Given the description of an element on the screen output the (x, y) to click on. 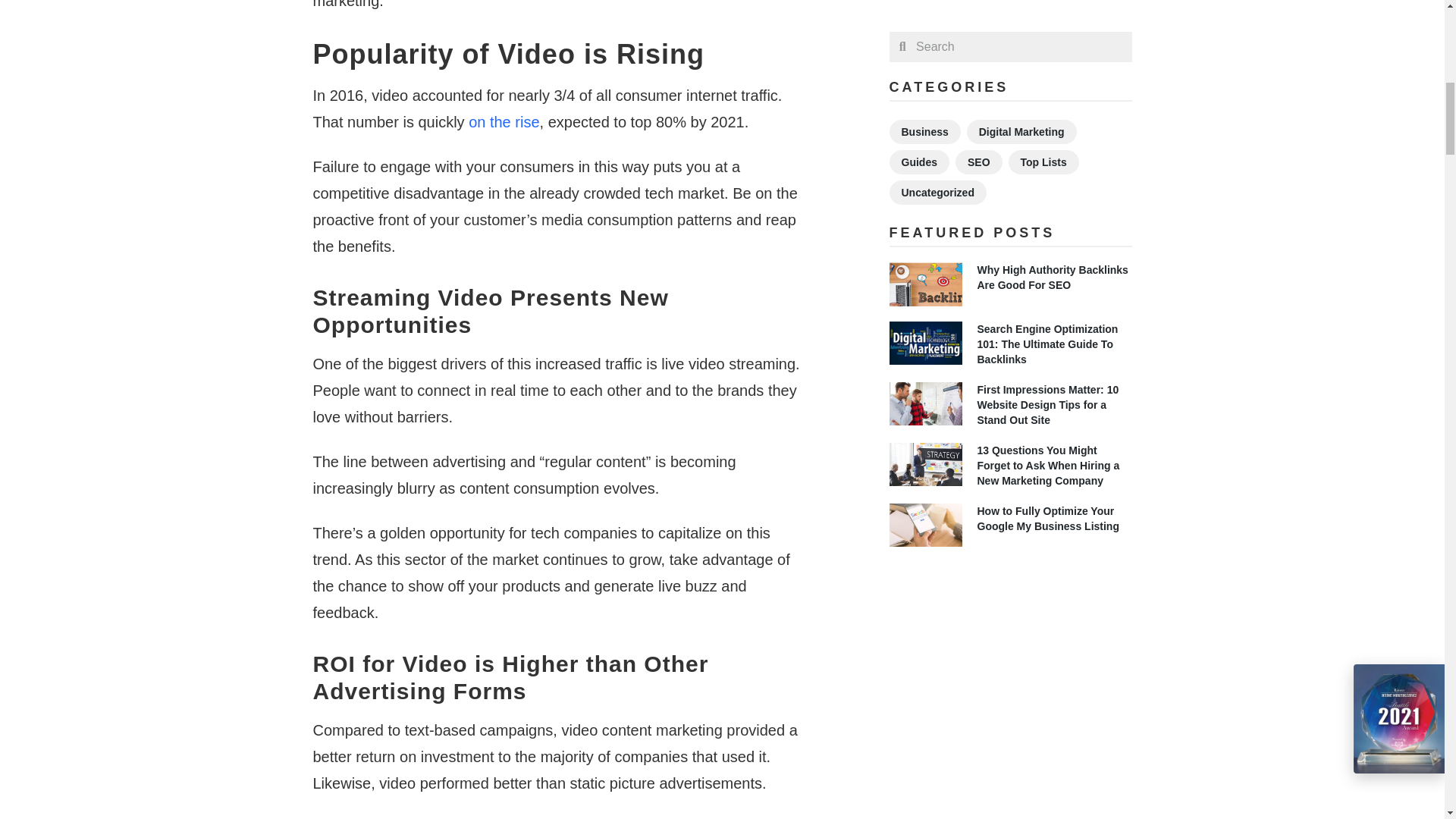
on the rise (503, 121)
